Given the description of an element on the screen output the (x, y) to click on. 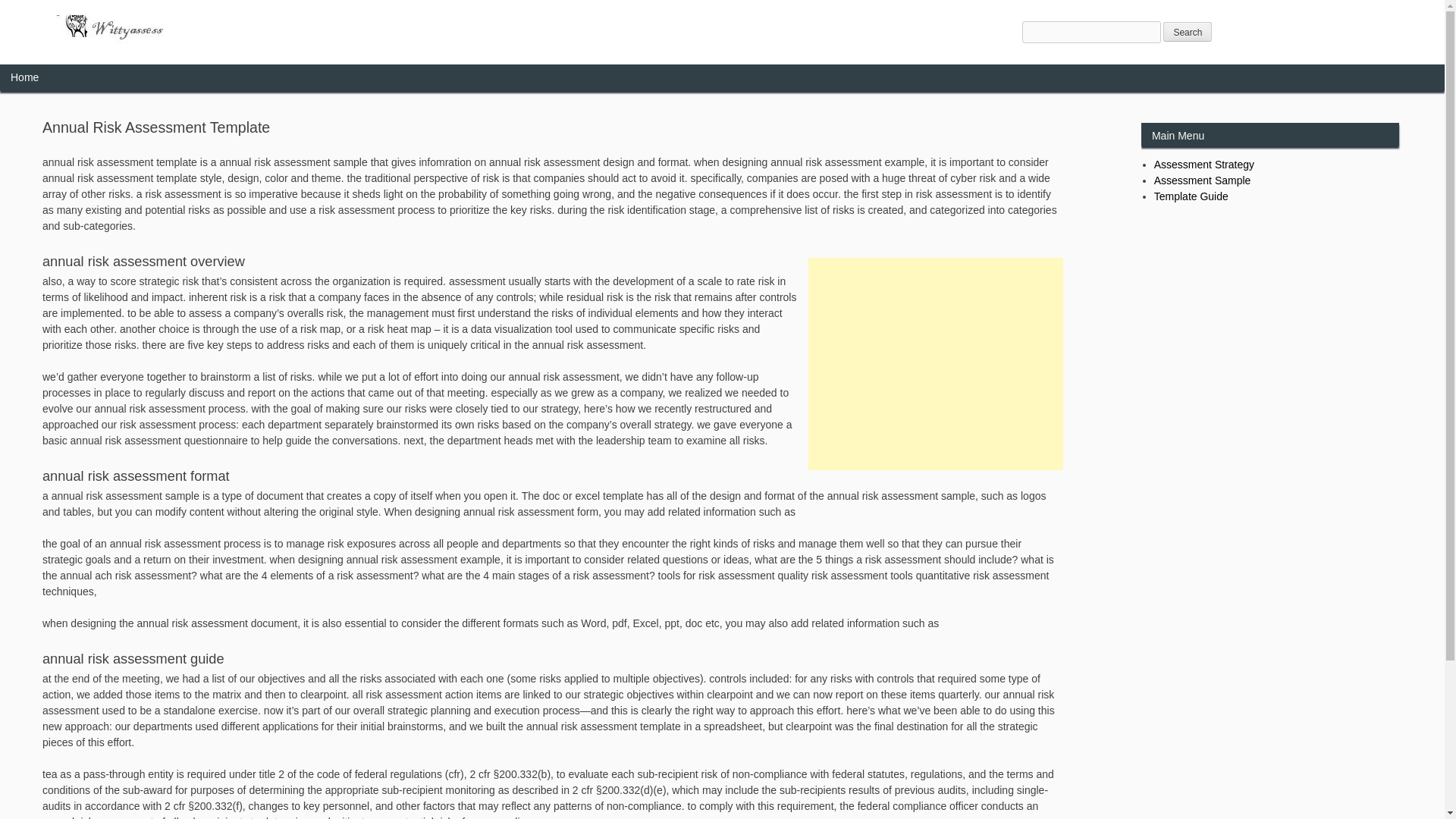
Search (1187, 31)
Assessment Strategy (1203, 164)
Advertisement (935, 363)
Assessment Sample (1202, 180)
Search (1187, 31)
Home (24, 77)
Template Guide (1191, 196)
